Given the description of an element on the screen output the (x, y) to click on. 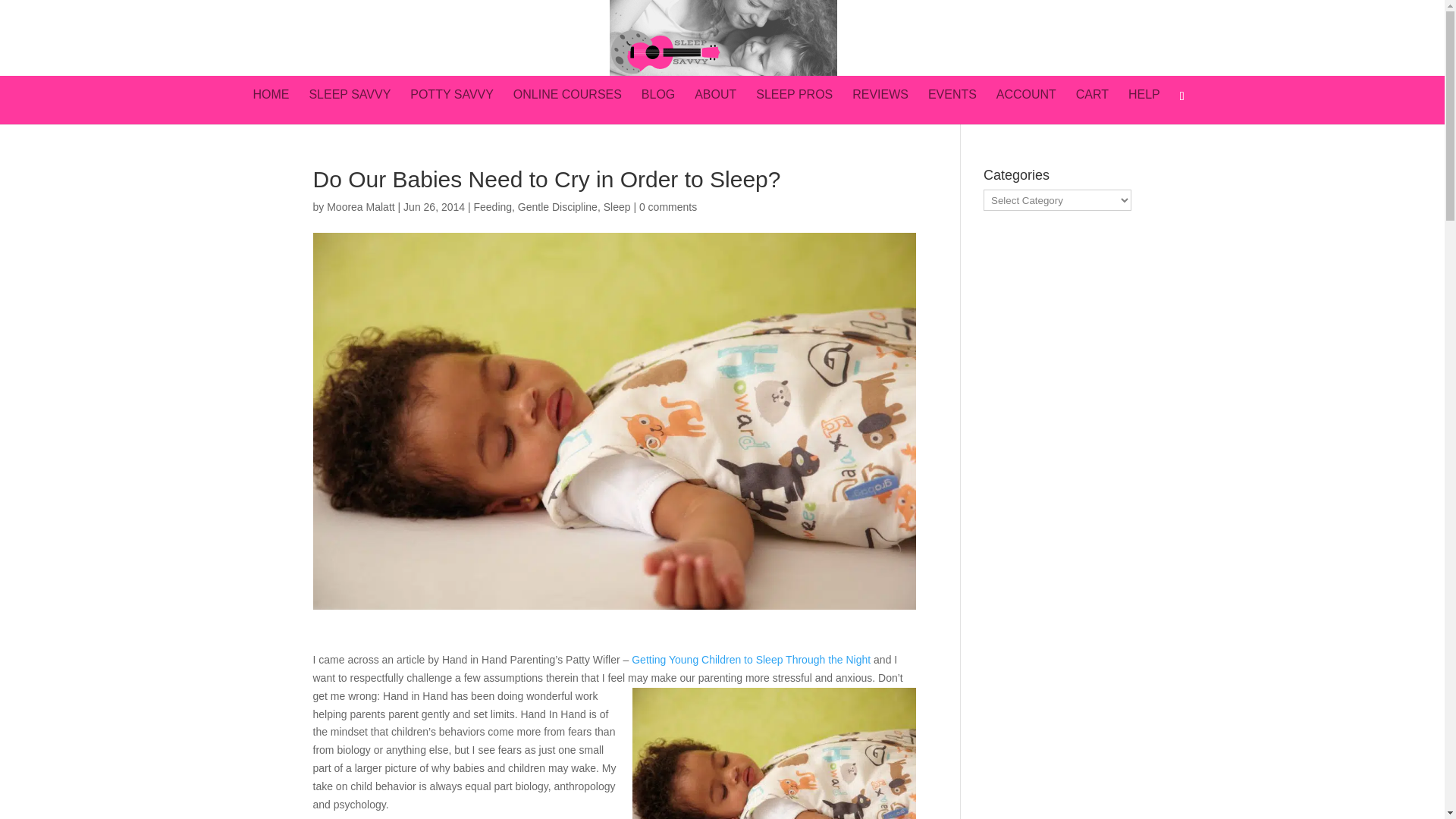
0 comments (668, 206)
REVIEWS (879, 106)
Hand in Hand Sleep Thru (750, 659)
EVENTS (952, 106)
HOME (271, 106)
BLOG (658, 106)
SLEEP SAVVY (349, 106)
CART (1091, 106)
ONLINE COURSES (567, 106)
Feeding (492, 206)
HELP (1144, 106)
SLEEP PROS (793, 106)
Posts by Moorea Malatt (360, 206)
Gentle Discipline (557, 206)
Sleep (617, 206)
